Given the description of an element on the screen output the (x, y) to click on. 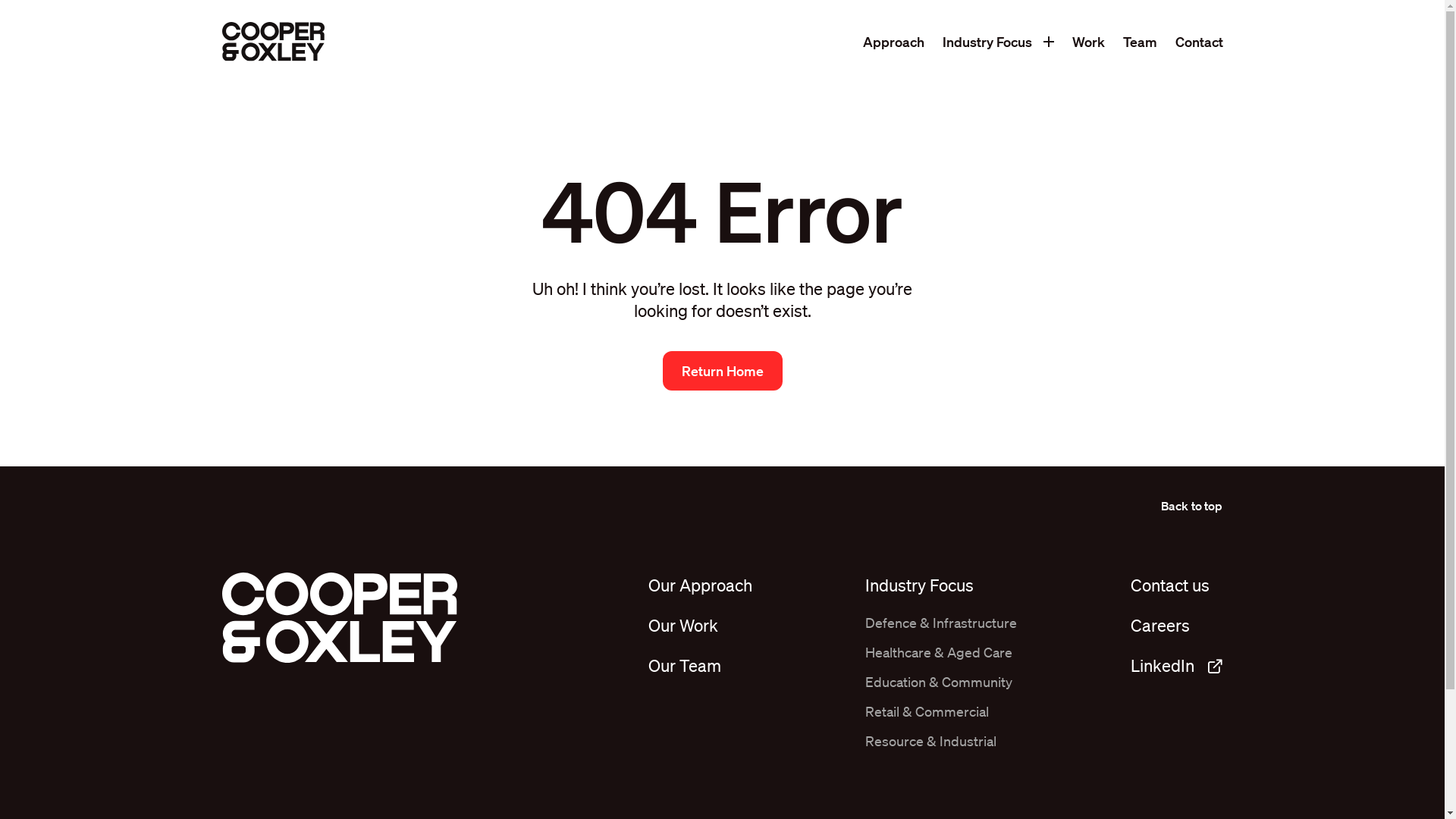
Industry Focus Element type: text (986, 41)
Team Element type: text (1139, 41)
Approach Element type: text (893, 41)
Contact us Element type: text (1168, 584)
Careers Element type: text (1159, 624)
Healthcare & Aged Care Element type: text (938, 651)
Our Approach Element type: text (700, 584)
Industry Focus Element type: text (919, 584)
Our Work Element type: text (683, 624)
Our Team Element type: text (684, 664)
Back to top Element type: text (1192, 505)
Retail & Commercial Element type: text (926, 710)
Education & Community Element type: text (938, 681)
Work Element type: text (1088, 41)
LinkedIn Element type: text (1175, 664)
Return Home Element type: text (722, 370)
Defence & Infrastructure Element type: text (940, 622)
Contact Element type: text (1199, 41)
Resource & Industrial Element type: text (930, 740)
